Given the description of an element on the screen output the (x, y) to click on. 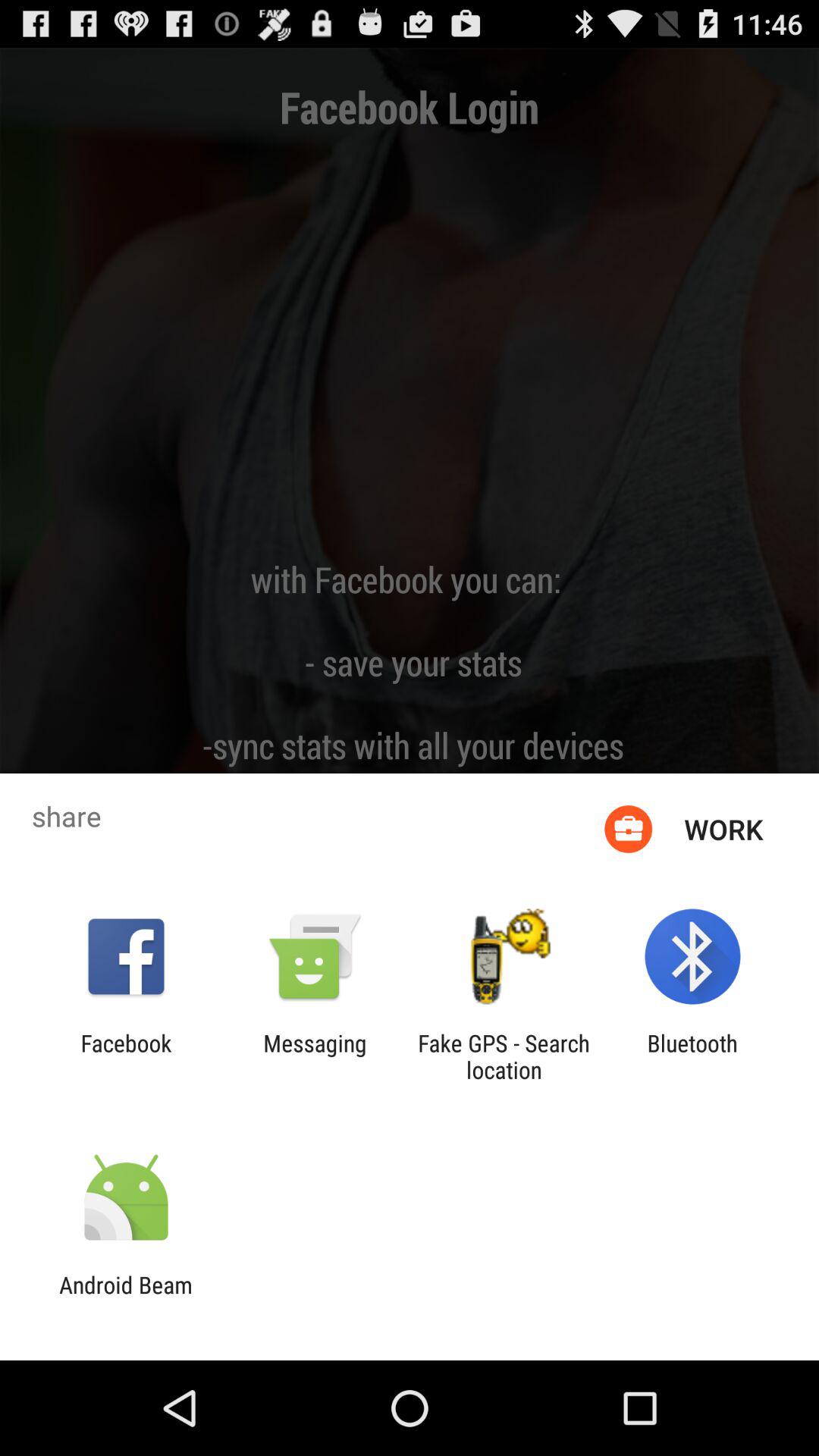
scroll until the messaging item (314, 1056)
